Given the description of an element on the screen output the (x, y) to click on. 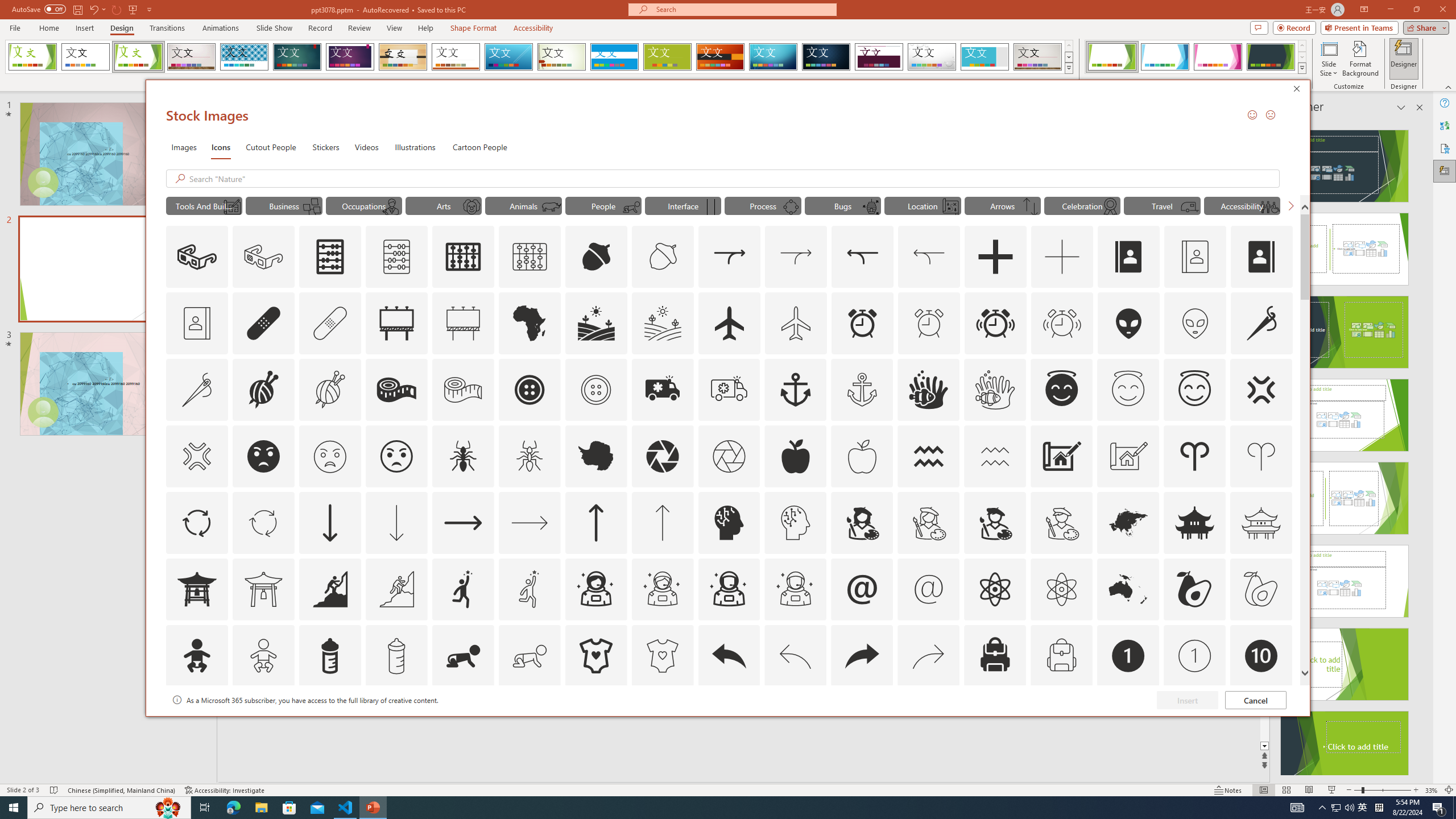
Variants (1301, 67)
AutomationID: Icons_Avocado (1194, 588)
AutomationID: Icons_Baby (196, 655)
Ion Boardroom (350, 56)
